Given the description of an element on the screen output the (x, y) to click on. 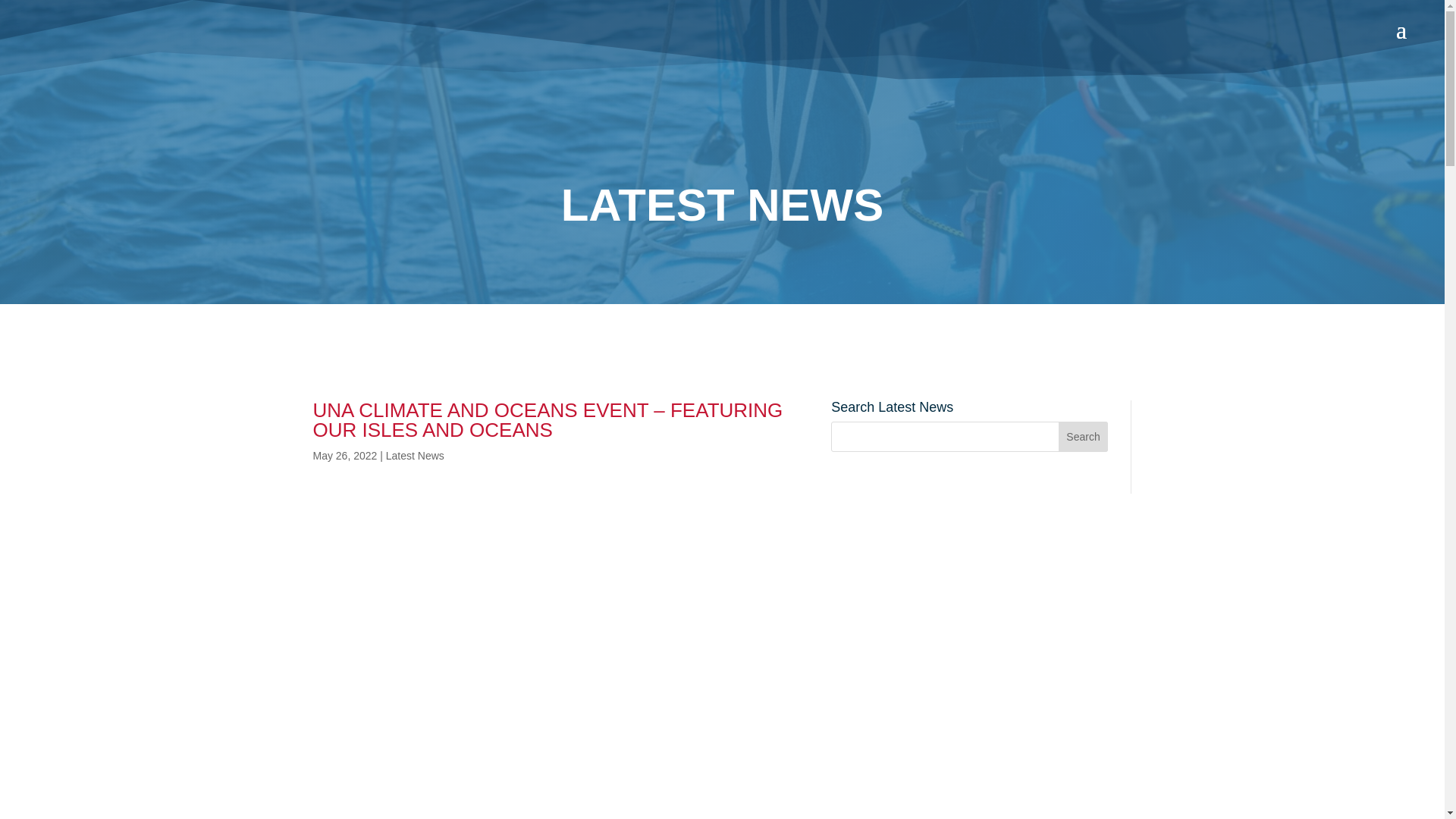
Latest News (414, 455)
Search (1083, 436)
Search (1083, 436)
